Given the description of an element on the screen output the (x, y) to click on. 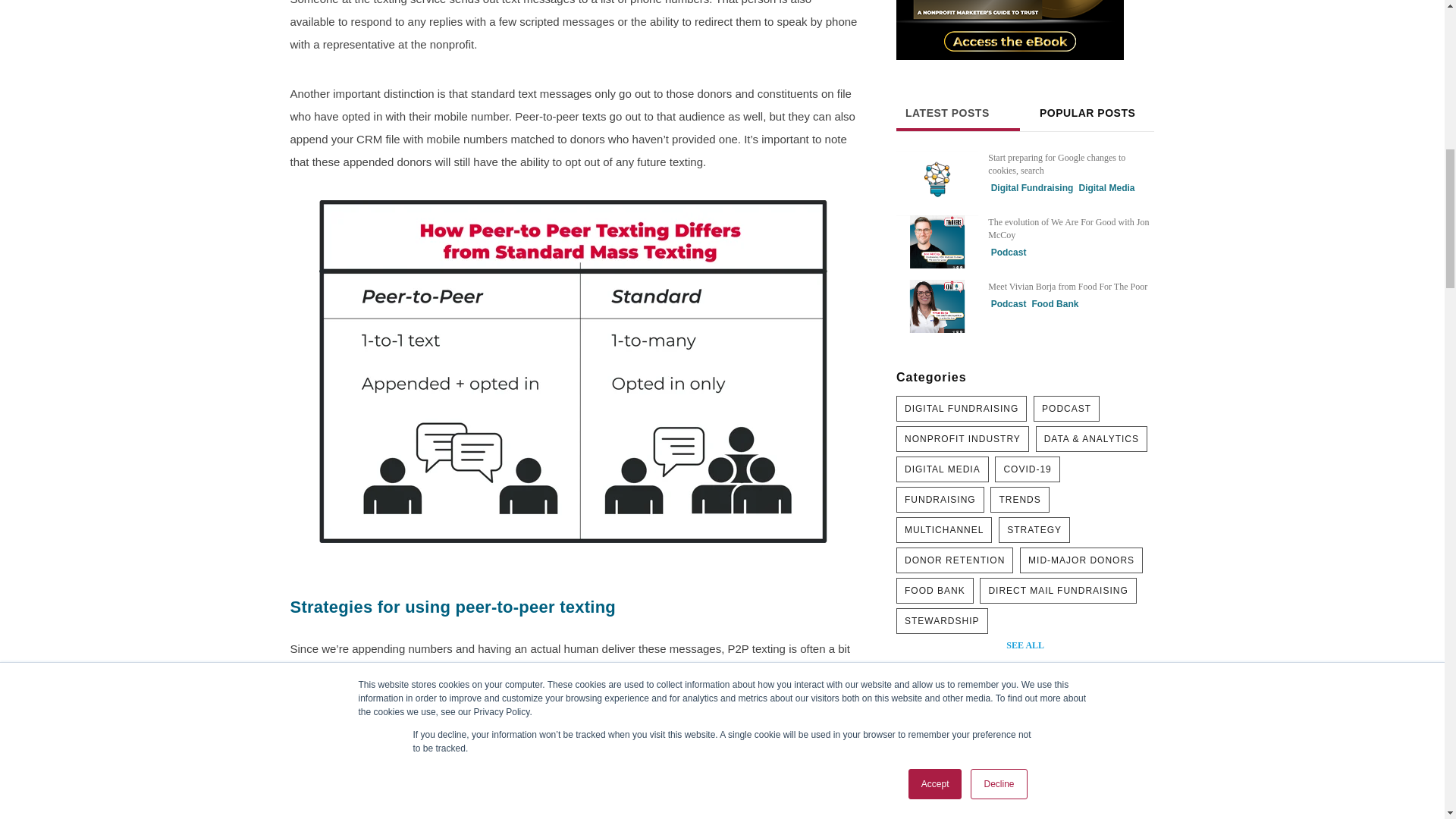
Gen X eBook download (1025, 750)
